Given the description of an element on the screen output the (x, y) to click on. 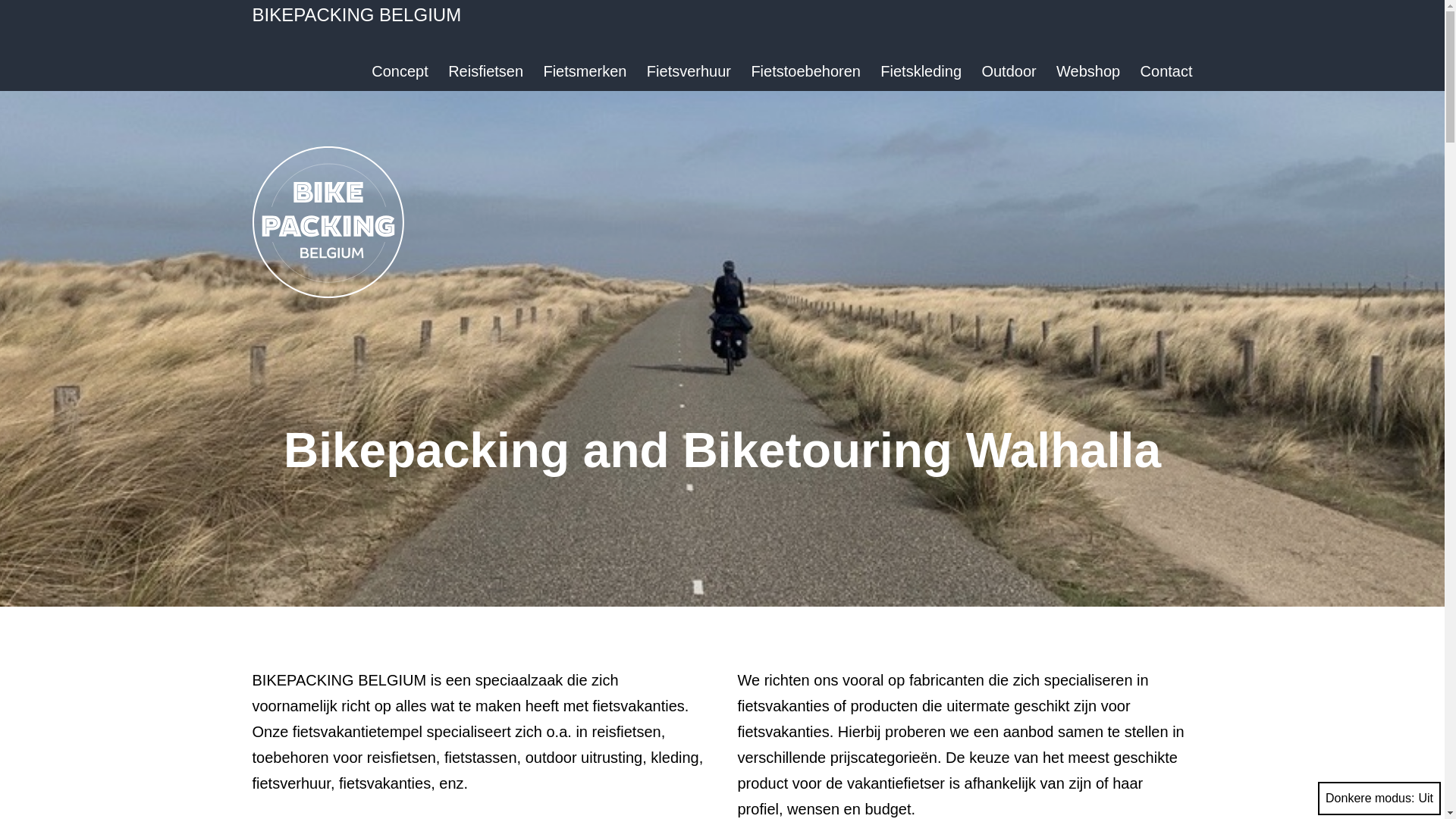
Fietskleding Element type: text (920, 71)
Webshop Element type: text (1088, 71)
Contact Element type: text (1165, 71)
Fietsverhuur Element type: text (689, 71)
Fietsmerken Element type: text (584, 71)
Donkere modus: Element type: text (1378, 798)
Outdoor Element type: text (1008, 71)
Concept Element type: text (399, 71)
Reisfietsen Element type: text (485, 71)
Fietstoebehoren Element type: text (805, 71)
